Given the description of an element on the screen output the (x, y) to click on. 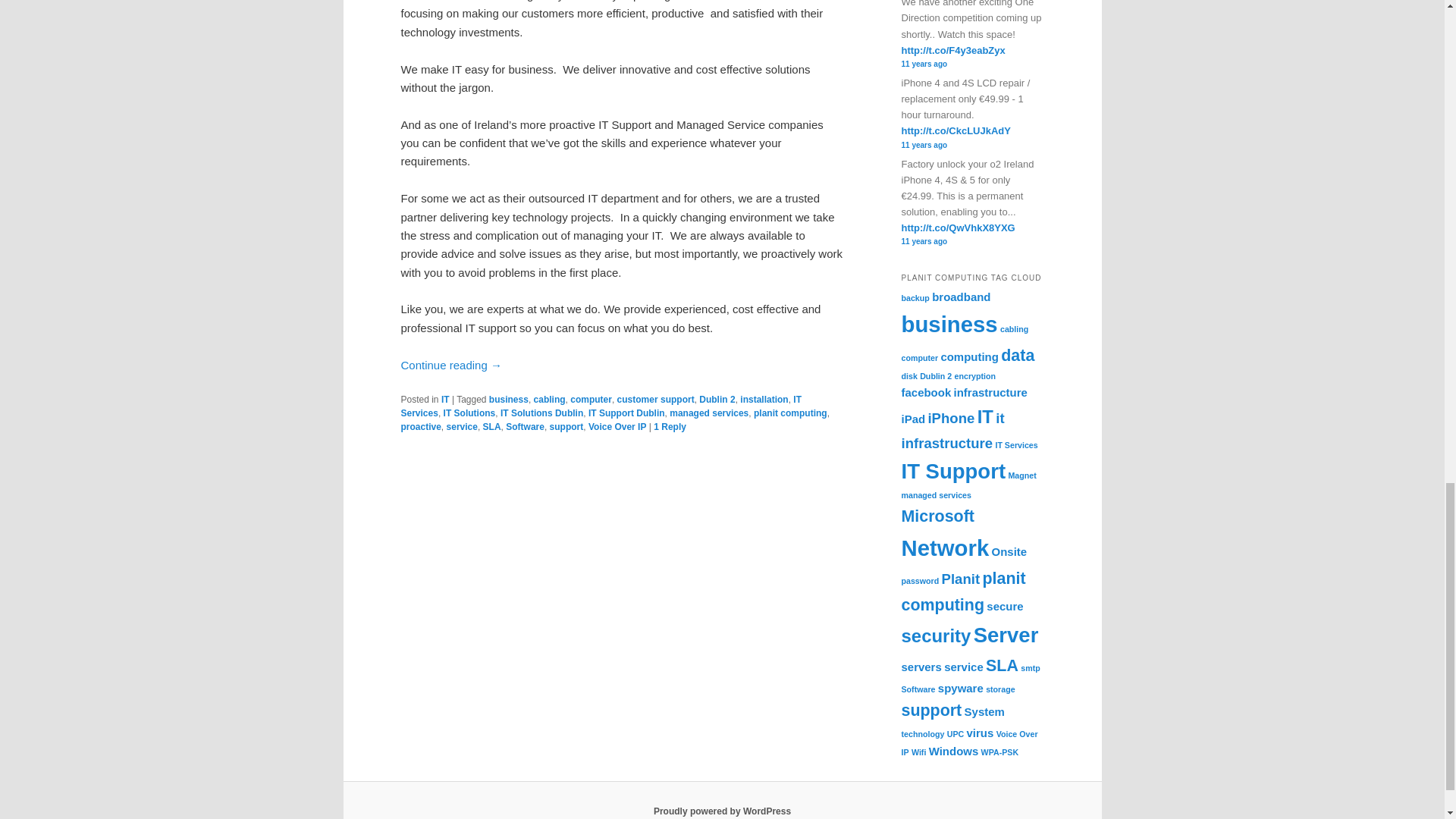
Semantic Personal Publishing Platform (721, 810)
customer support (655, 398)
business (508, 398)
IT (445, 398)
cabling (550, 398)
computer (590, 398)
